Given the description of an element on the screen output the (x, y) to click on. 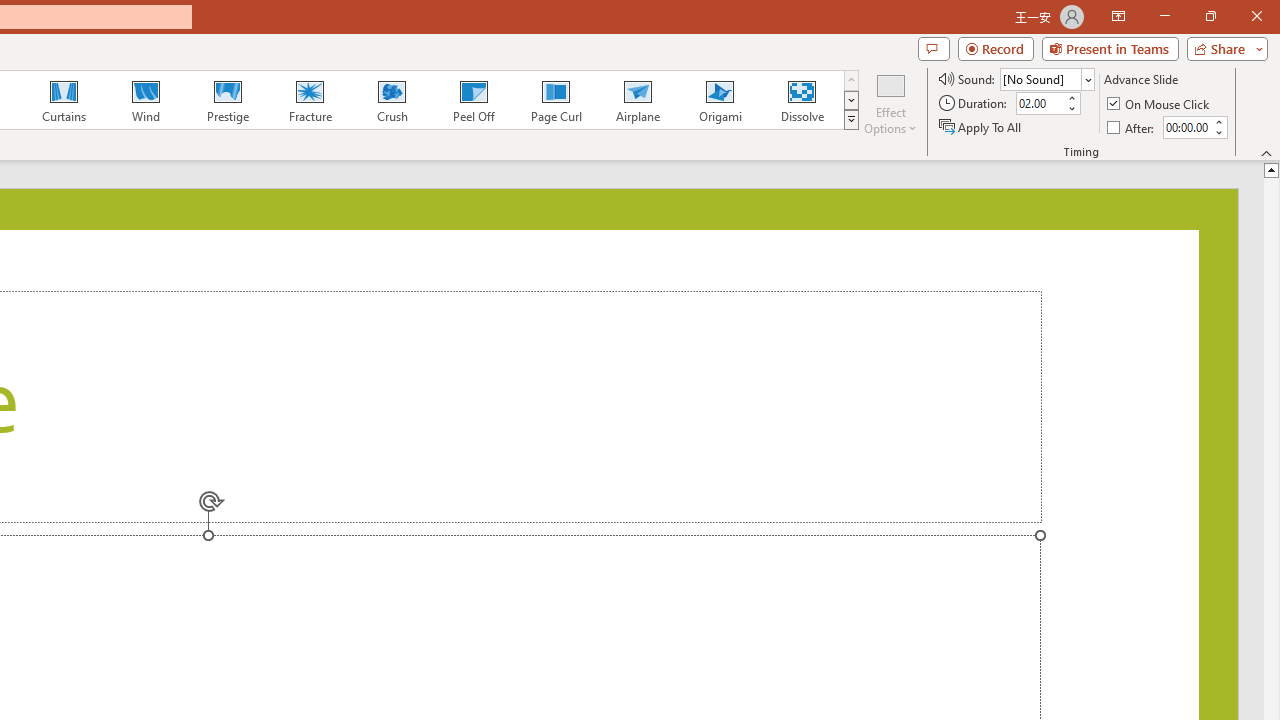
Apply To All (981, 126)
On Mouse Click (1159, 103)
